Given the description of an element on the screen output the (x, y) to click on. 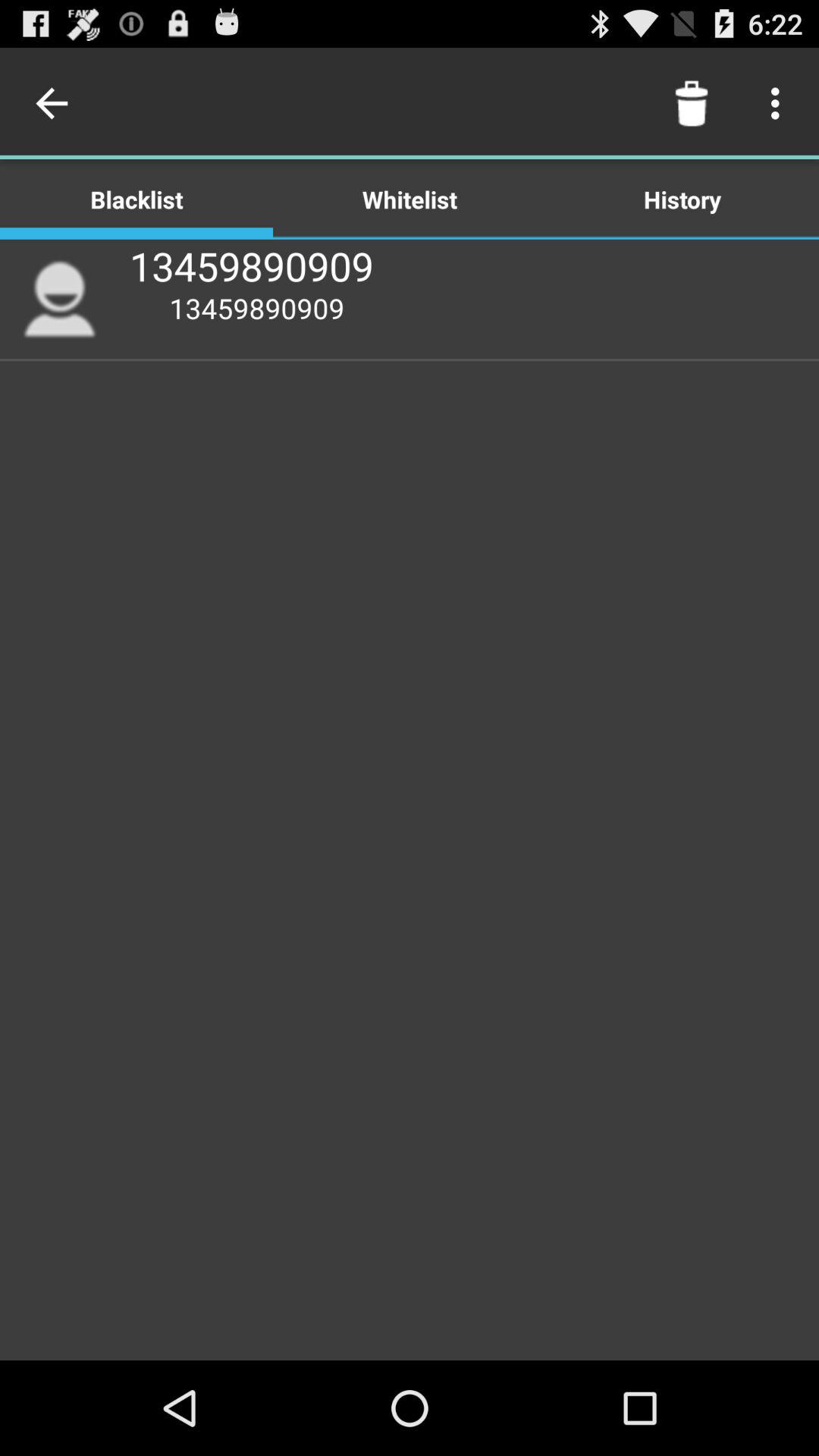
press the item next to the whitelist (691, 103)
